Given the description of an element on the screen output the (x, y) to click on. 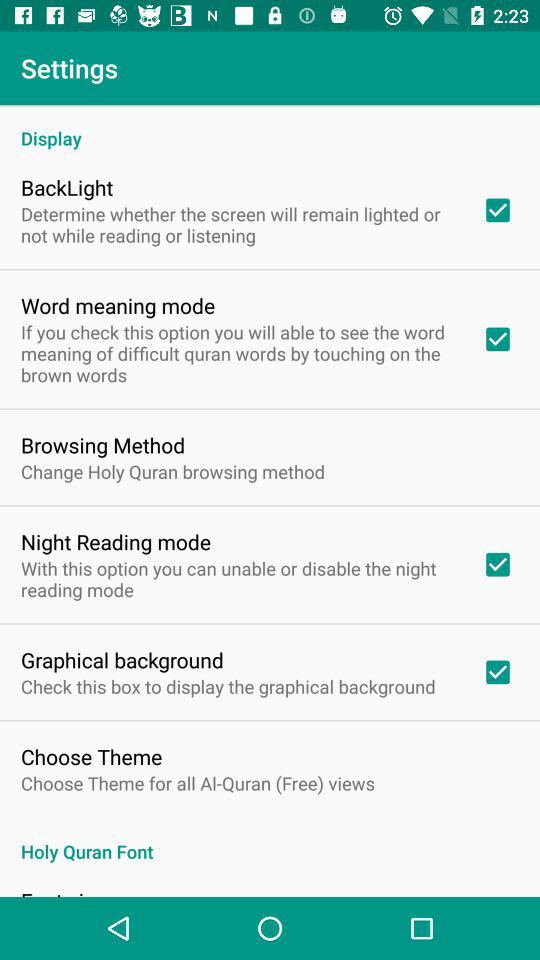
press the font size (63, 891)
